Given the description of an element on the screen output the (x, y) to click on. 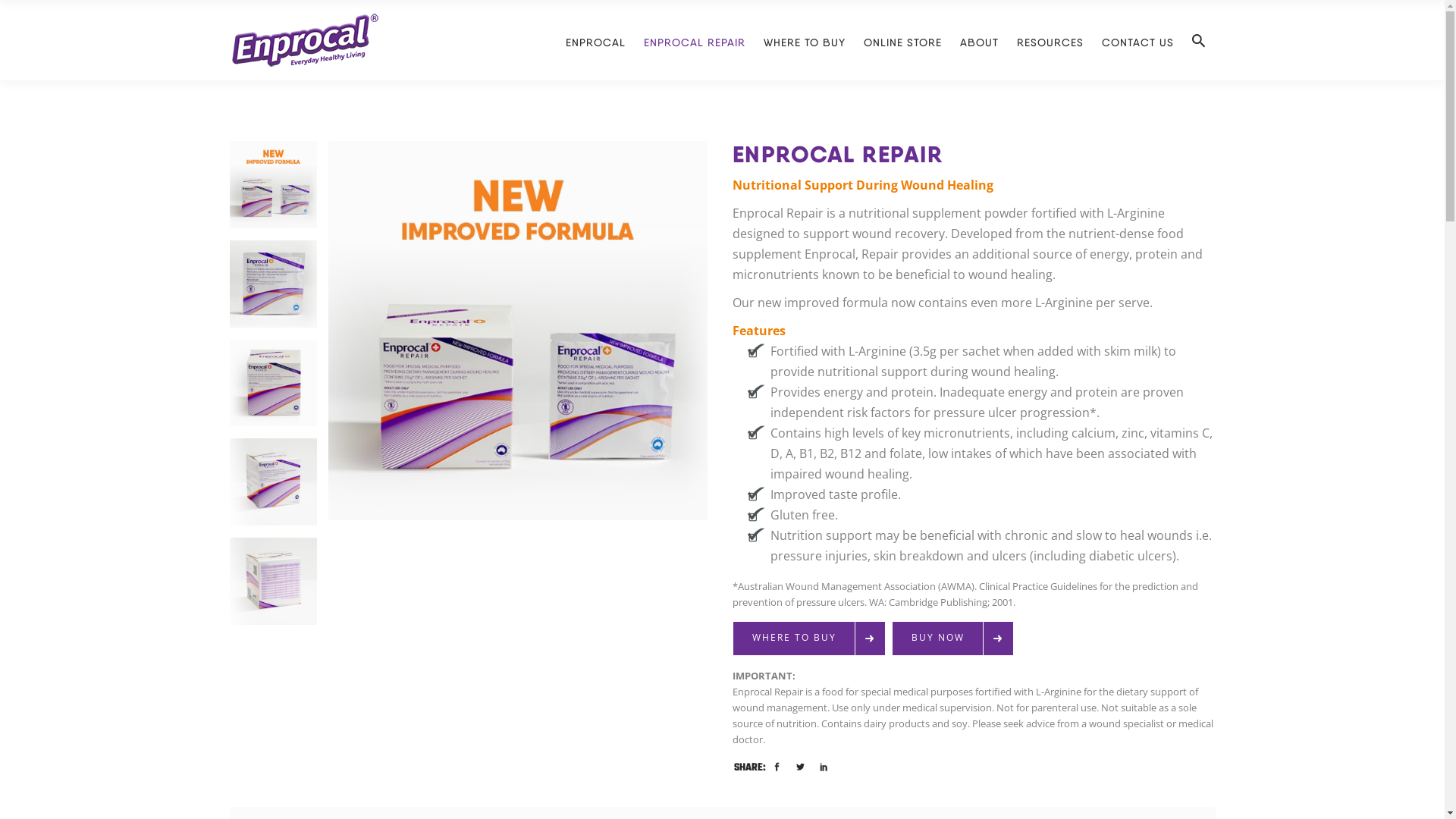
Enprocal-Repair-v4 1-min Element type: hover (272, 184)
Enprocal-Repair-v4 1-min Element type: hover (516, 330)
New Pack 2062-min Element type: hover (272, 580)
New Pack 2060-min Element type: hover (272, 481)
RESOURCES Element type: text (1049, 40)
ONLINE STORE Element type: text (901, 40)
WHERE TO BUY Element type: text (808, 638)
Enprocal Repair 1-min Element type: hover (272, 382)
ENPROCAL Element type: text (595, 40)
BUY NOW Element type: text (952, 638)
ABOUT Element type: text (978, 40)
ENPROCAL REPAIR Element type: text (693, 40)
Enprocal Repair 3-min Element type: hover (272, 283)
CONTACT US Element type: text (1137, 40)
WHERE TO BUY Element type: text (803, 40)
